Given the description of an element on the screen output the (x, y) to click on. 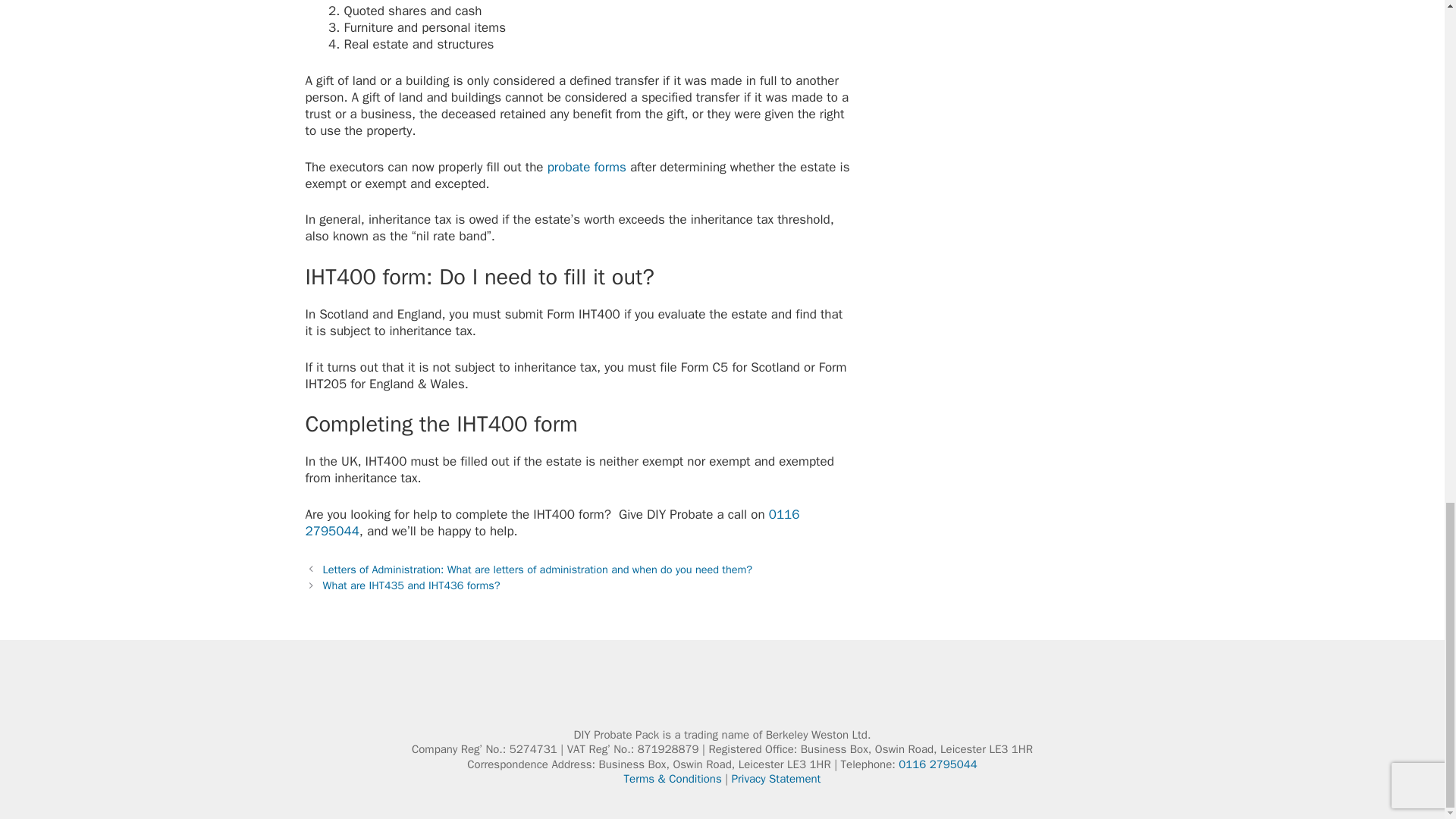
0116 2795044 (551, 522)
What are IHT435 and IHT436 forms? (411, 585)
probate forms (586, 166)
0116 2795044 (937, 764)
Privacy Statement (776, 778)
